Given the description of an element on the screen output the (x, y) to click on. 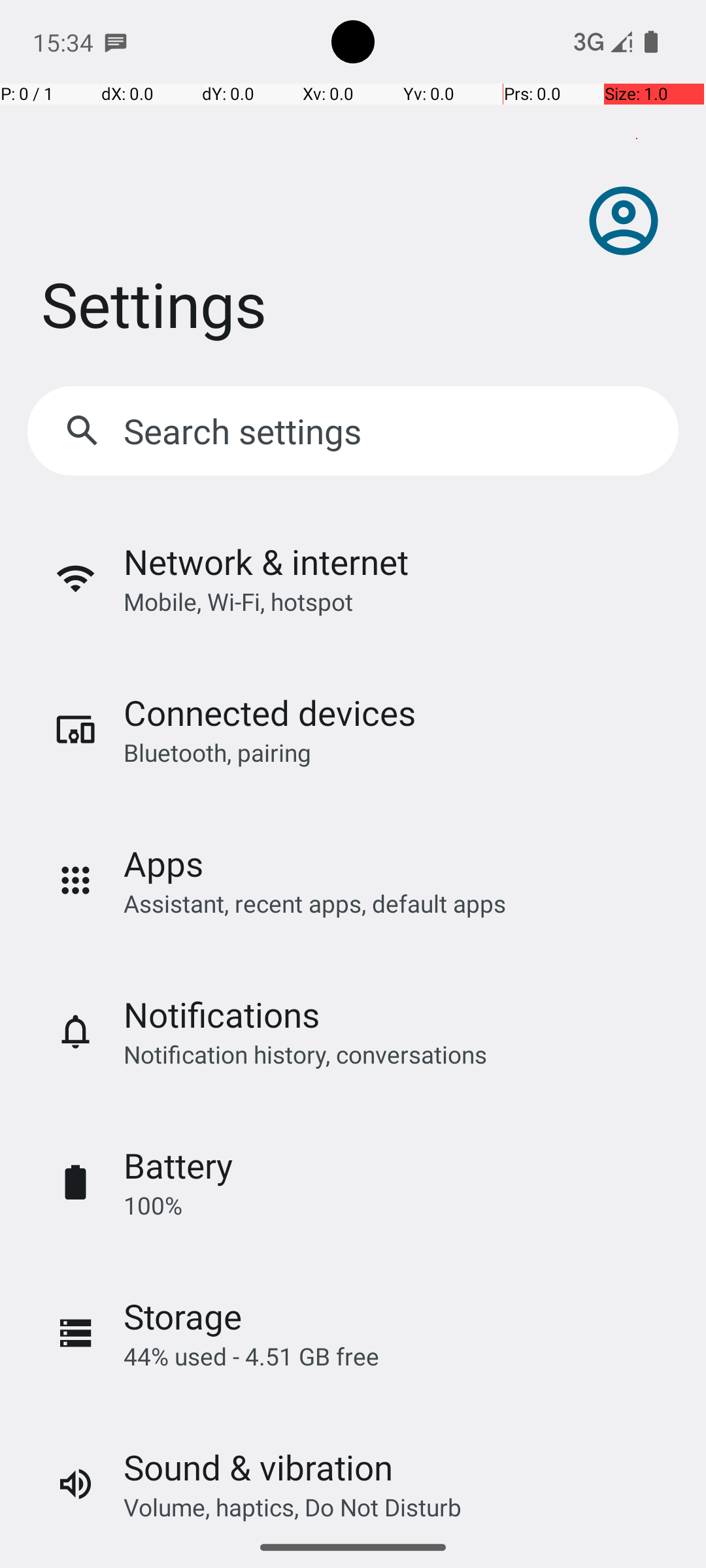
Profile picture, double tap to open Google Account Element type: android.widget.ImageView (623, 220)
Search settings Element type: android.widget.TextView (245, 430)
Network & internet Element type: android.widget.TextView (265, 561)
Mobile, Wi‑Fi, hotspot Element type: android.widget.TextView (238, 601)
Connected devices Element type: android.widget.TextView (269, 712)
Bluetooth, pairing Element type: android.widget.TextView (217, 751)
Apps Element type: android.widget.TextView (163, 863)
Assistant, recent apps, default apps Element type: android.widget.TextView (314, 902)
Notifications Element type: android.widget.TextView (221, 1014)
Notification history, conversations Element type: android.widget.TextView (305, 1053)
Battery Element type: android.widget.TextView (178, 1165)
100% Element type: android.widget.TextView (152, 1204)
Storage Element type: android.widget.TextView (182, 1315)
44% used - 4.51 GB free Element type: android.widget.TextView (251, 1355)
Sound & vibration Element type: android.widget.TextView (257, 1466)
Volume, haptics, Do Not Disturb Element type: android.widget.TextView (292, 1506)
